Given the description of an element on the screen output the (x, y) to click on. 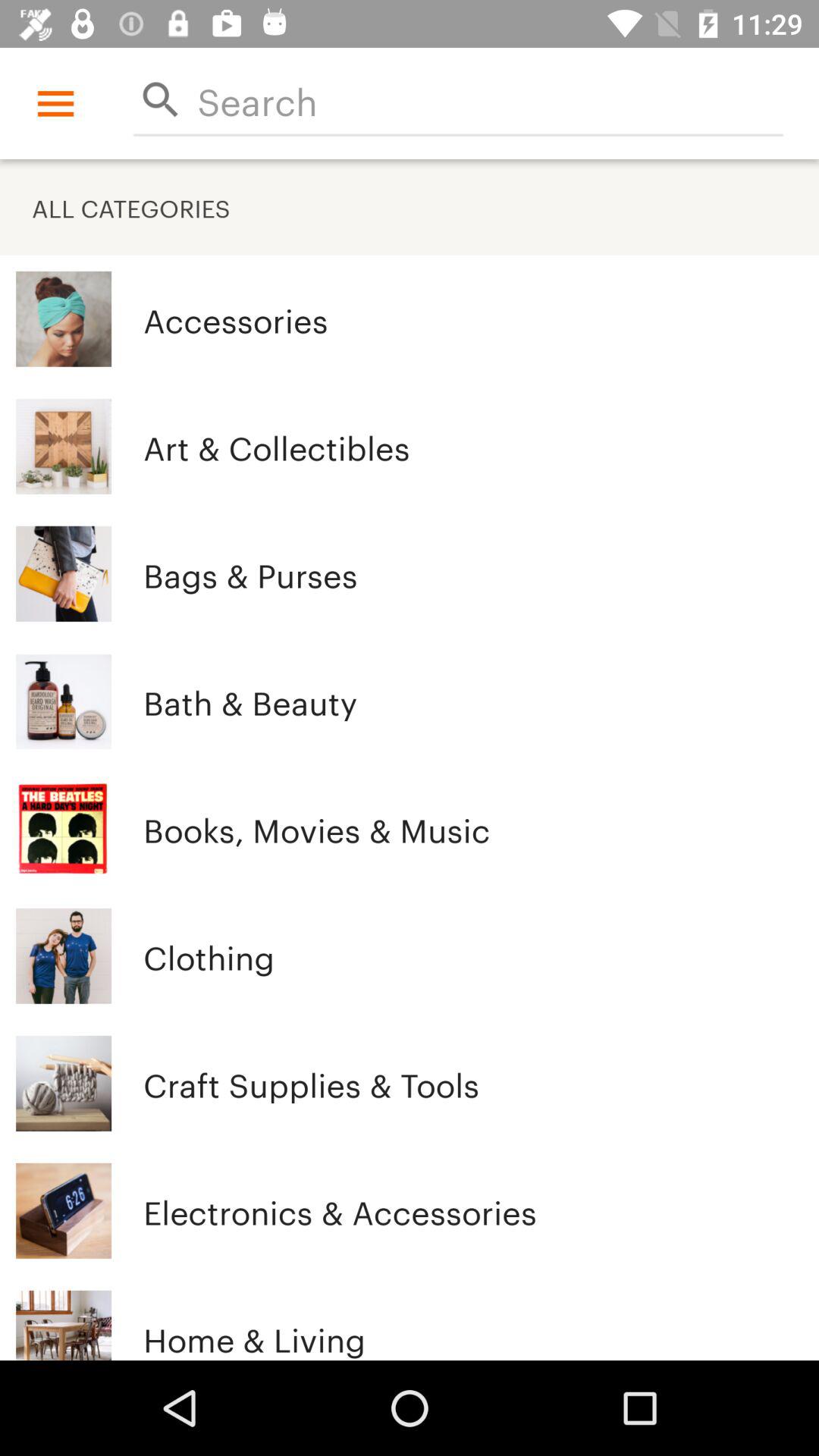
choose the icon above all categories item (55, 103)
